Given the description of an element on the screen output the (x, y) to click on. 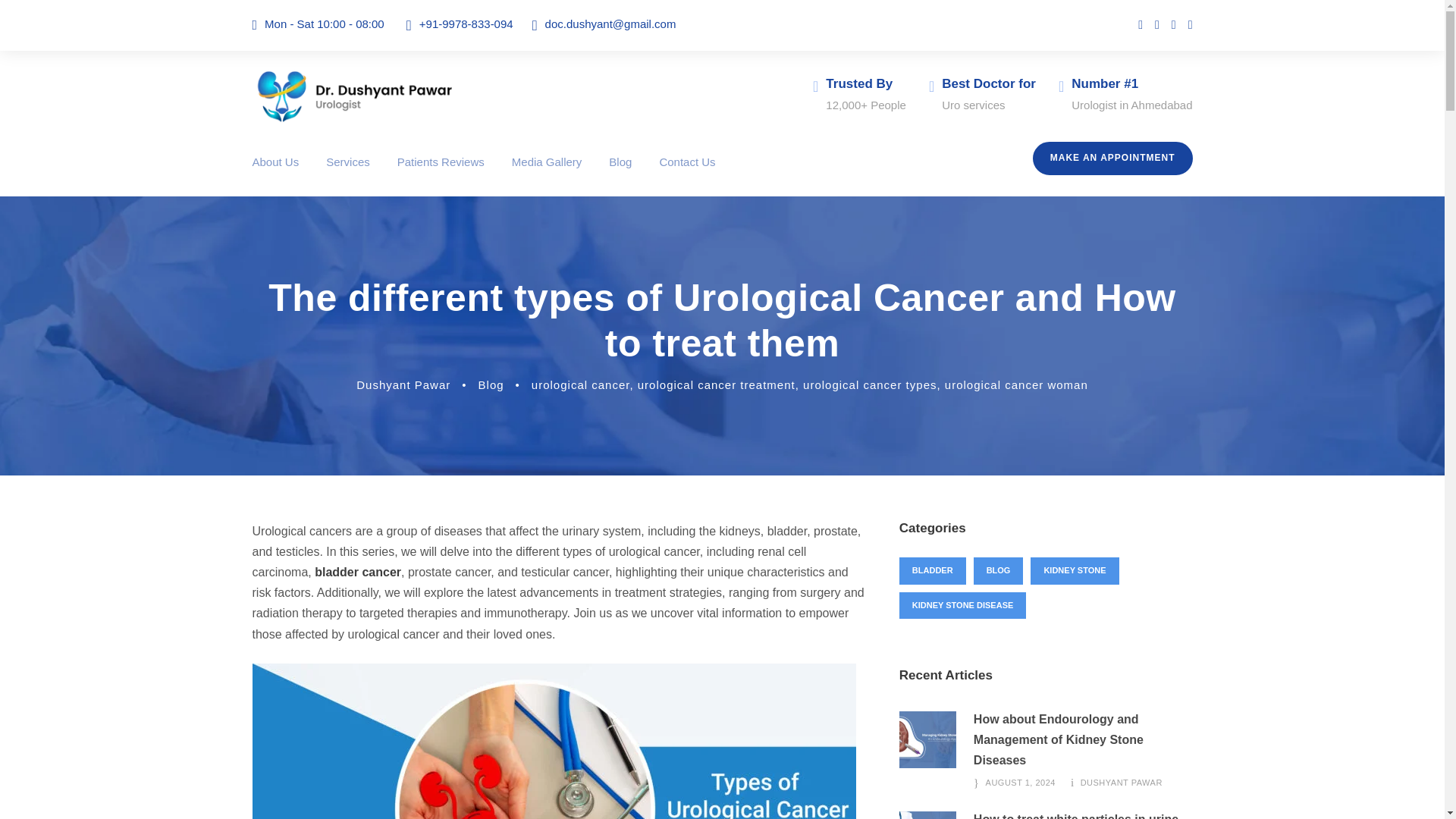
Dr. Pawar Logo (354, 96)
Services (347, 174)
MAKE AN APPOINTMENT (1112, 158)
About Us (274, 174)
Contact Us (686, 174)
Patients Reviews (440, 174)
Media Gallery (547, 174)
Posts by Dushyant Pawar (402, 384)
